Given the description of an element on the screen output the (x, y) to click on. 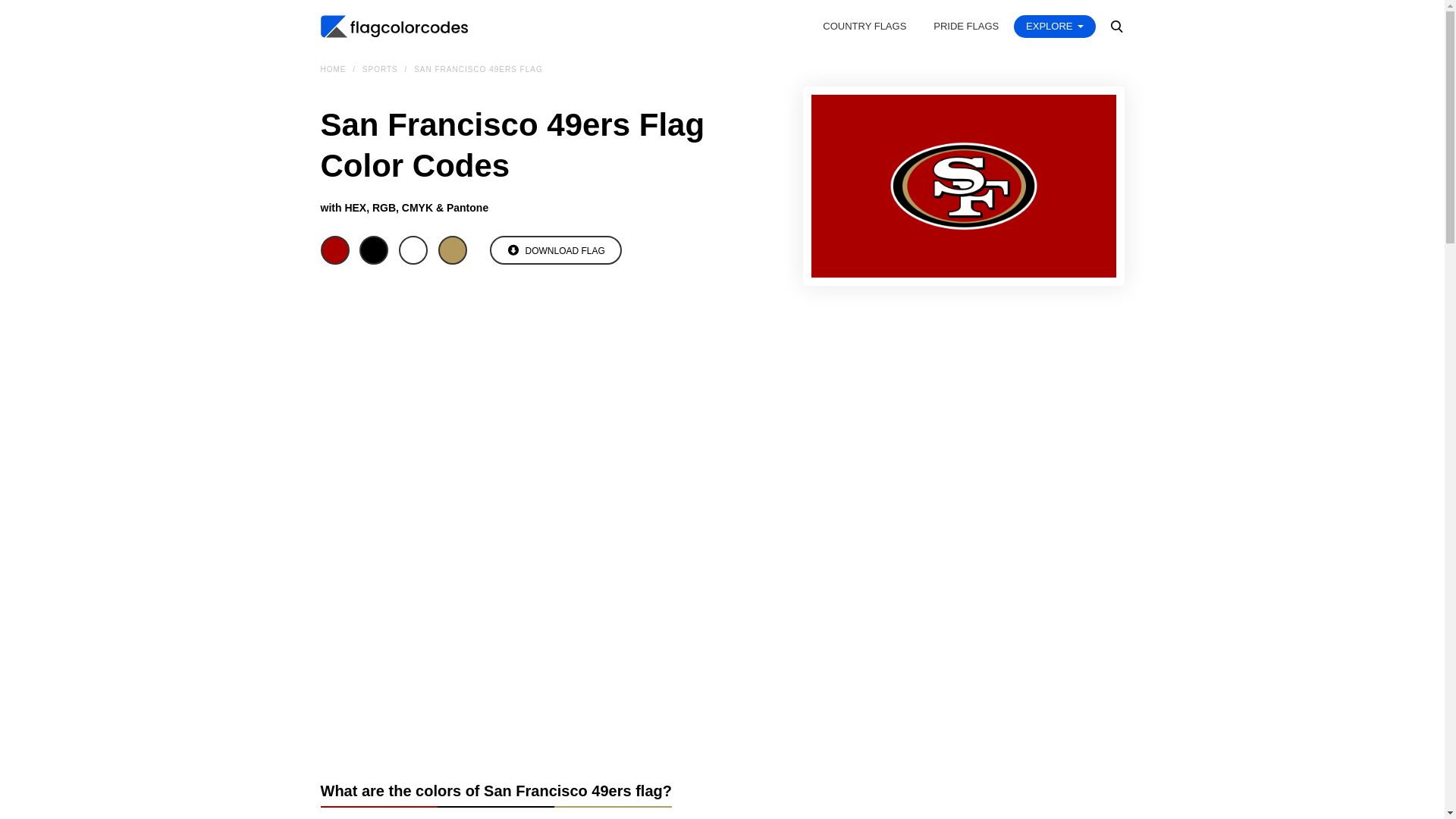
HOME (334, 69)
Download Flag in PNG Format (555, 249)
FlagColorCodes Logo (394, 26)
FlagColorCodes (394, 26)
PRIDE FLAGS (965, 26)
COUNTRY FLAGS (864, 26)
DOWNLOAD FLAG (555, 249)
SPORTS (381, 69)
